Given the description of an element on the screen output the (x, y) to click on. 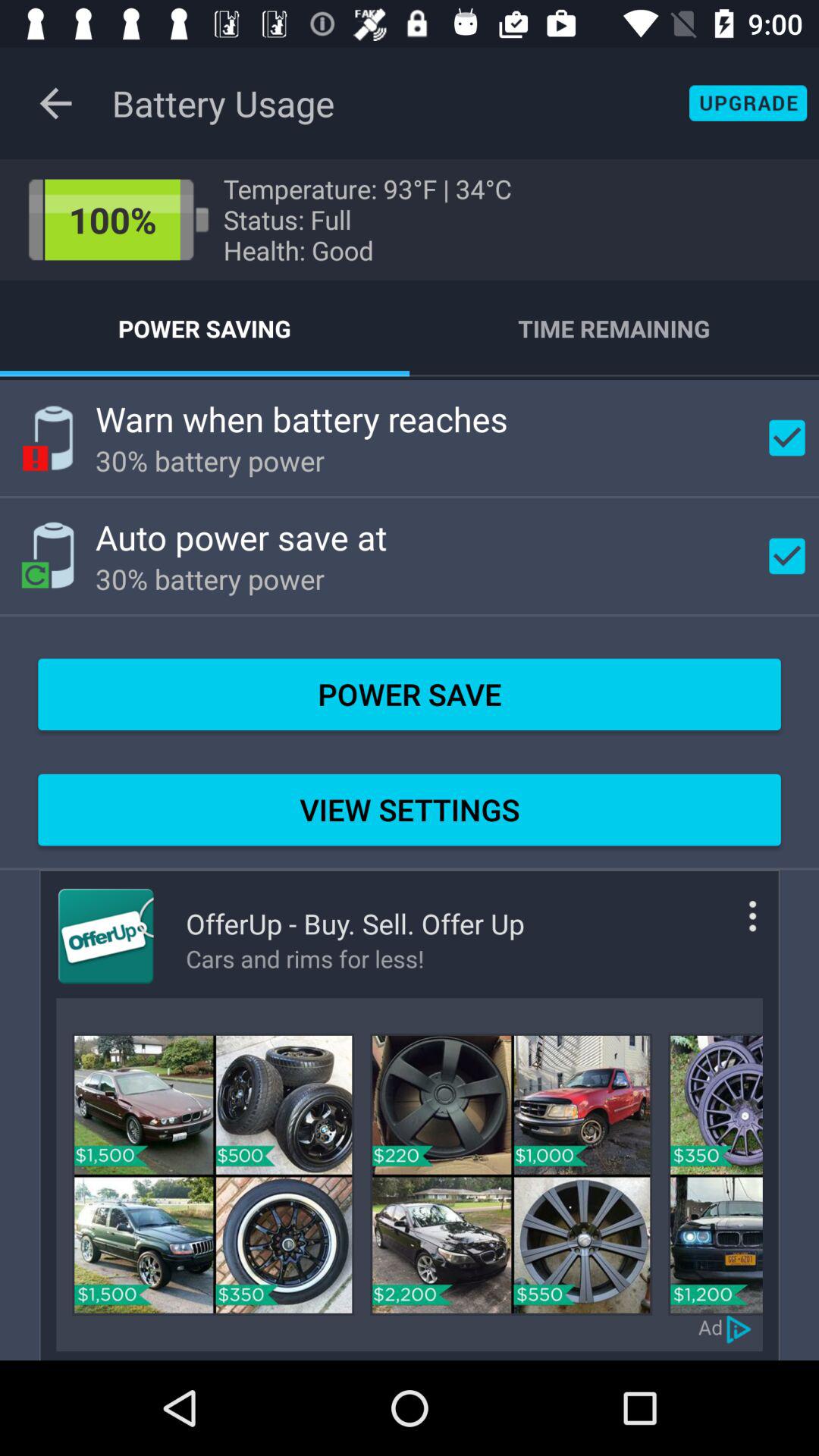
click the icon to the right of offerup buy sell (730, 928)
